Given the description of an element on the screen output the (x, y) to click on. 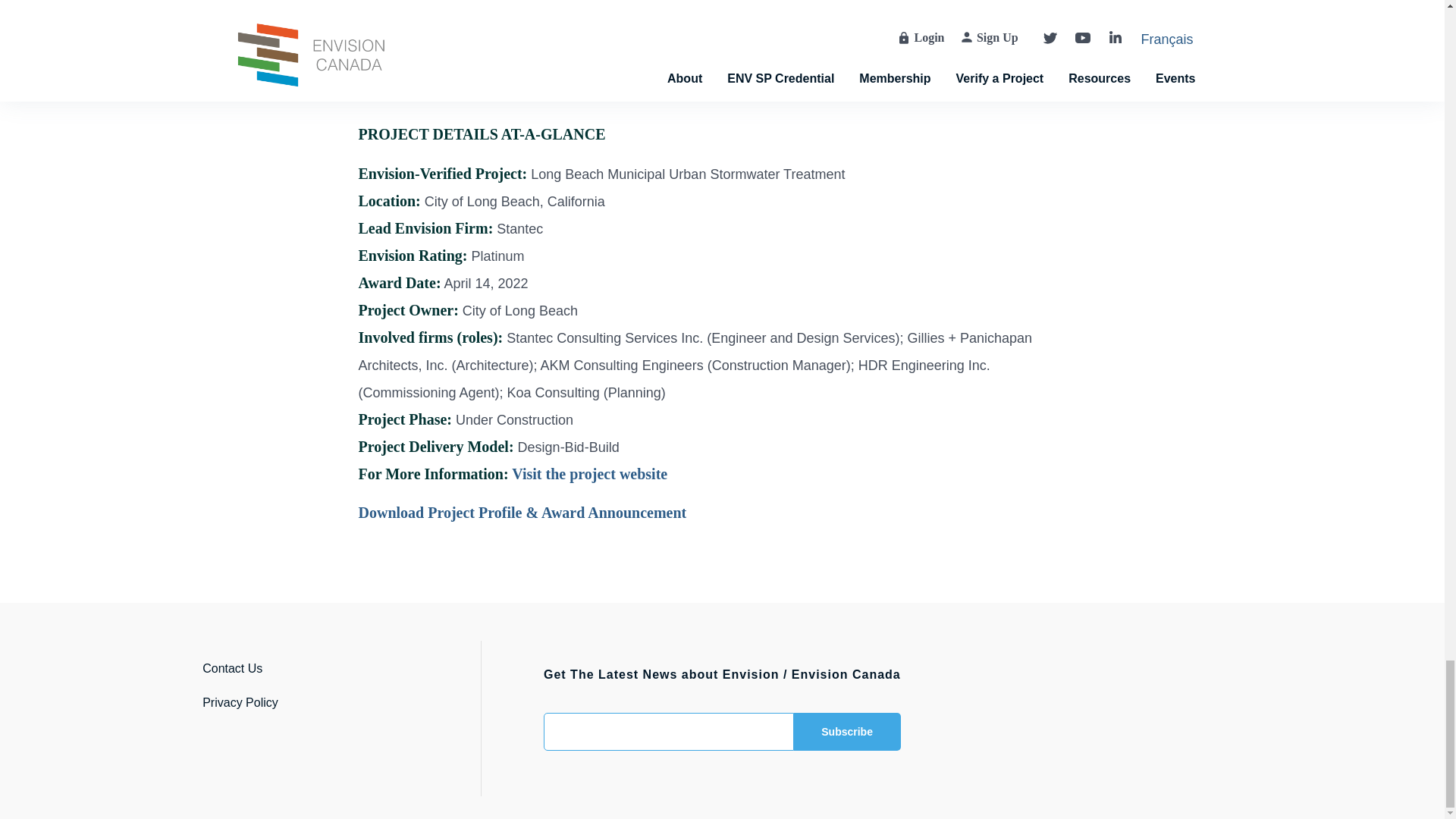
Subscribe (847, 731)
